Given the description of an element on the screen output the (x, y) to click on. 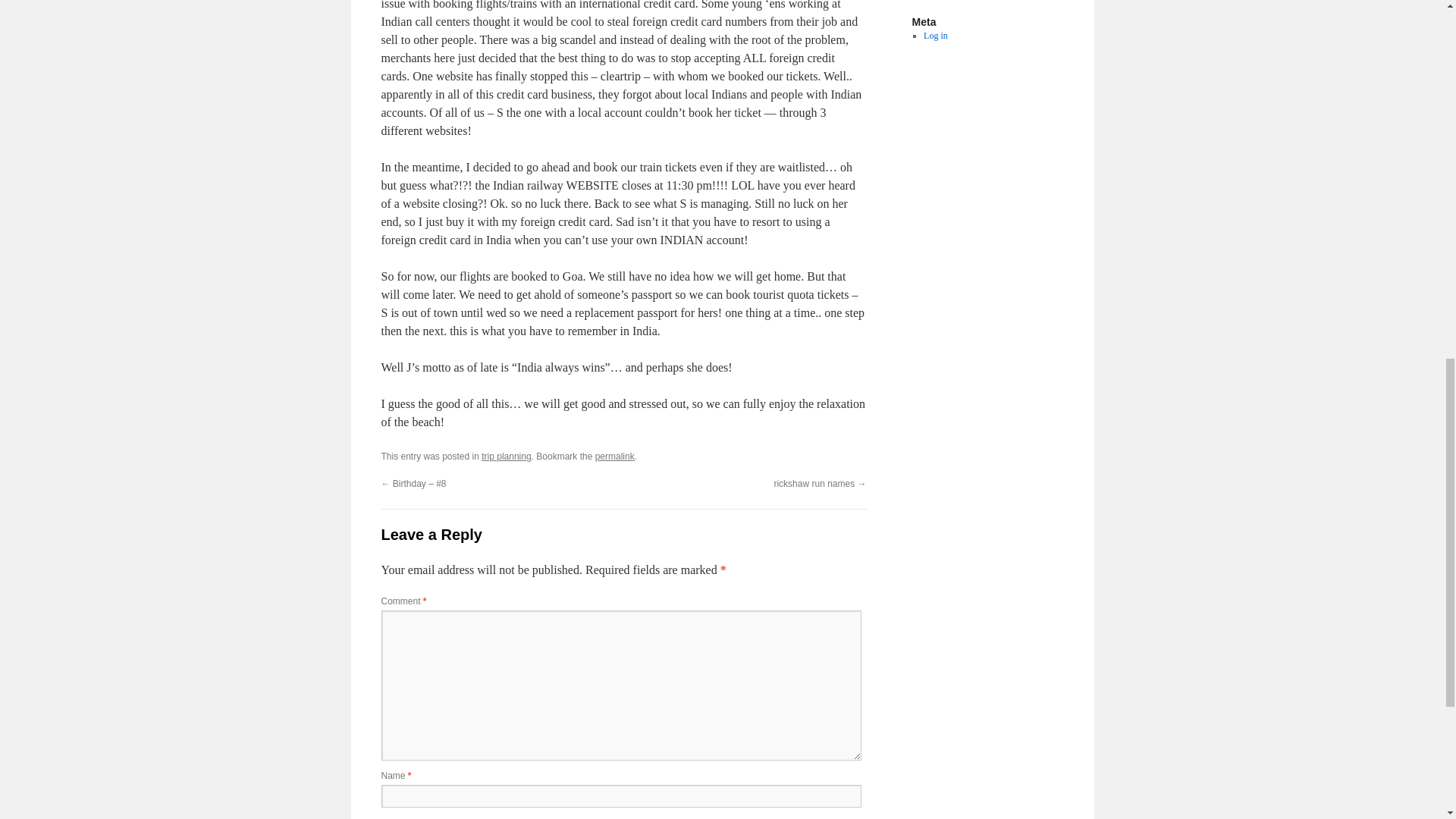
permalink (614, 456)
trip planning (506, 456)
Permalink to goa girls weekend (614, 456)
